Given the description of an element on the screen output the (x, y) to click on. 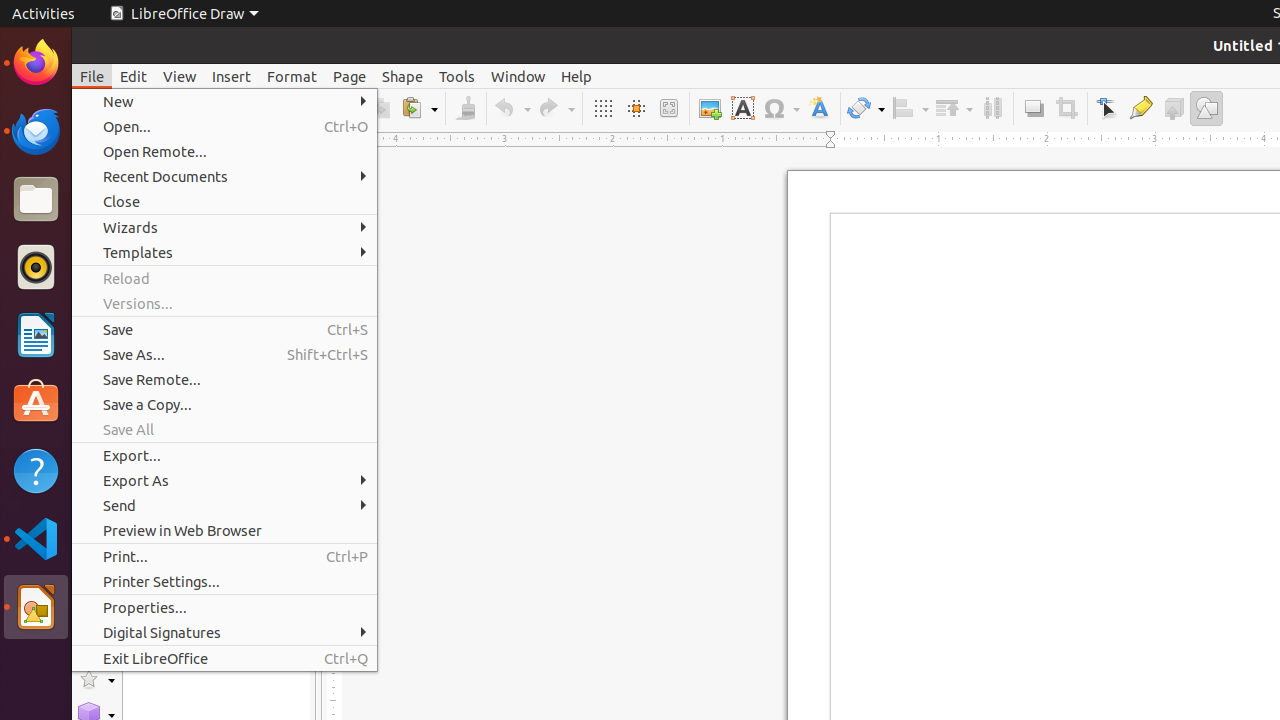
LibreOffice Draw Element type: menu (183, 13)
Edit Points Element type: push-button (1107, 108)
Export As Element type: menu (224, 480)
Templates Element type: menu (224, 252)
